Given the description of an element on the screen output the (x, y) to click on. 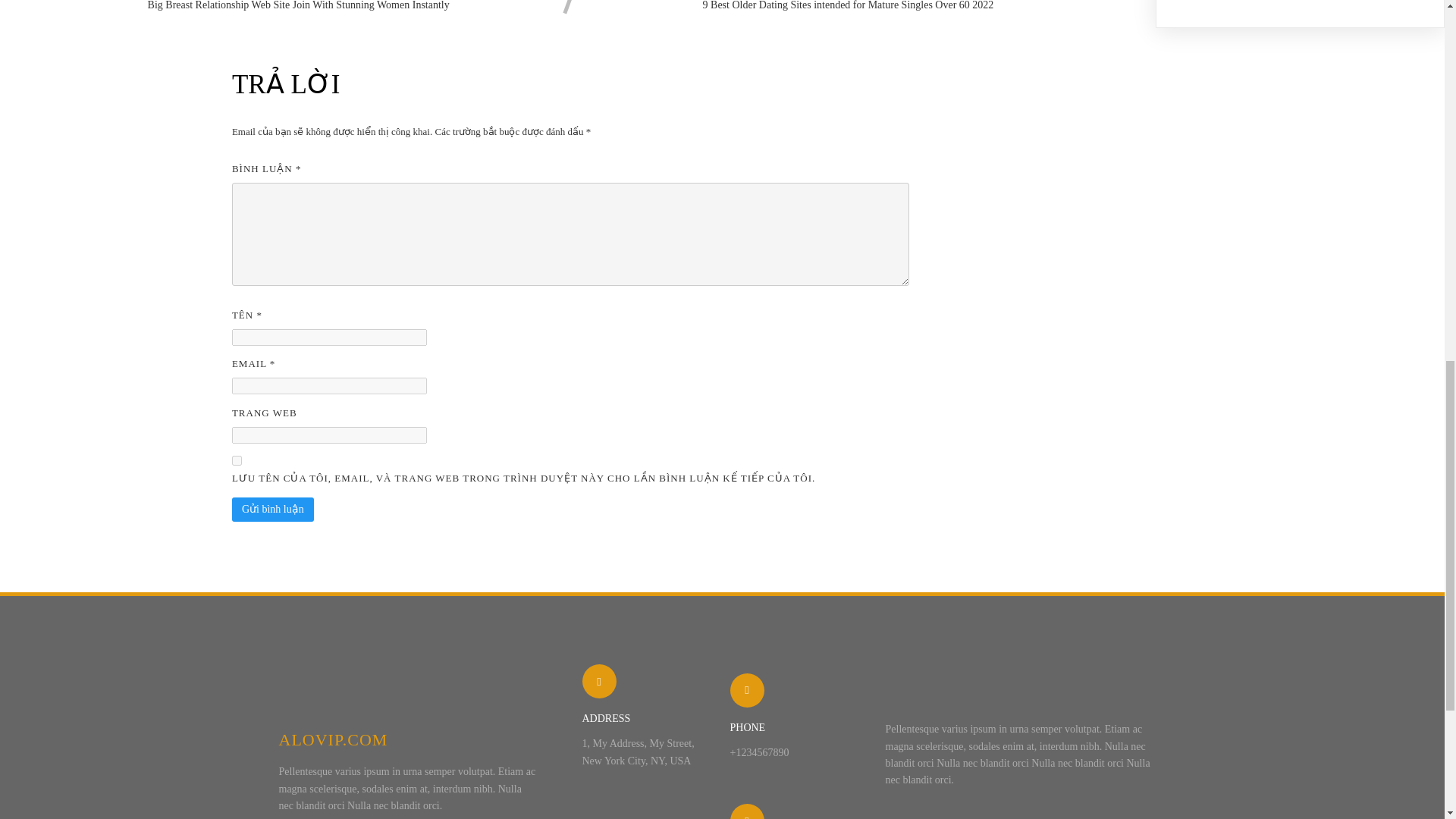
yes (236, 460)
ALOVIP.COM (408, 739)
